Given the description of an element on the screen output the (x, y) to click on. 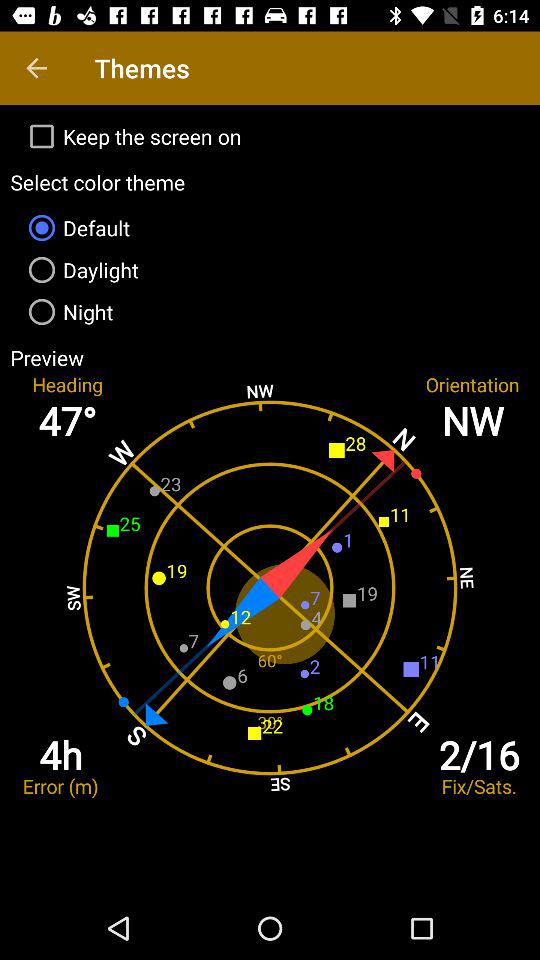
jump to the night icon (270, 311)
